Given the description of an element on the screen output the (x, y) to click on. 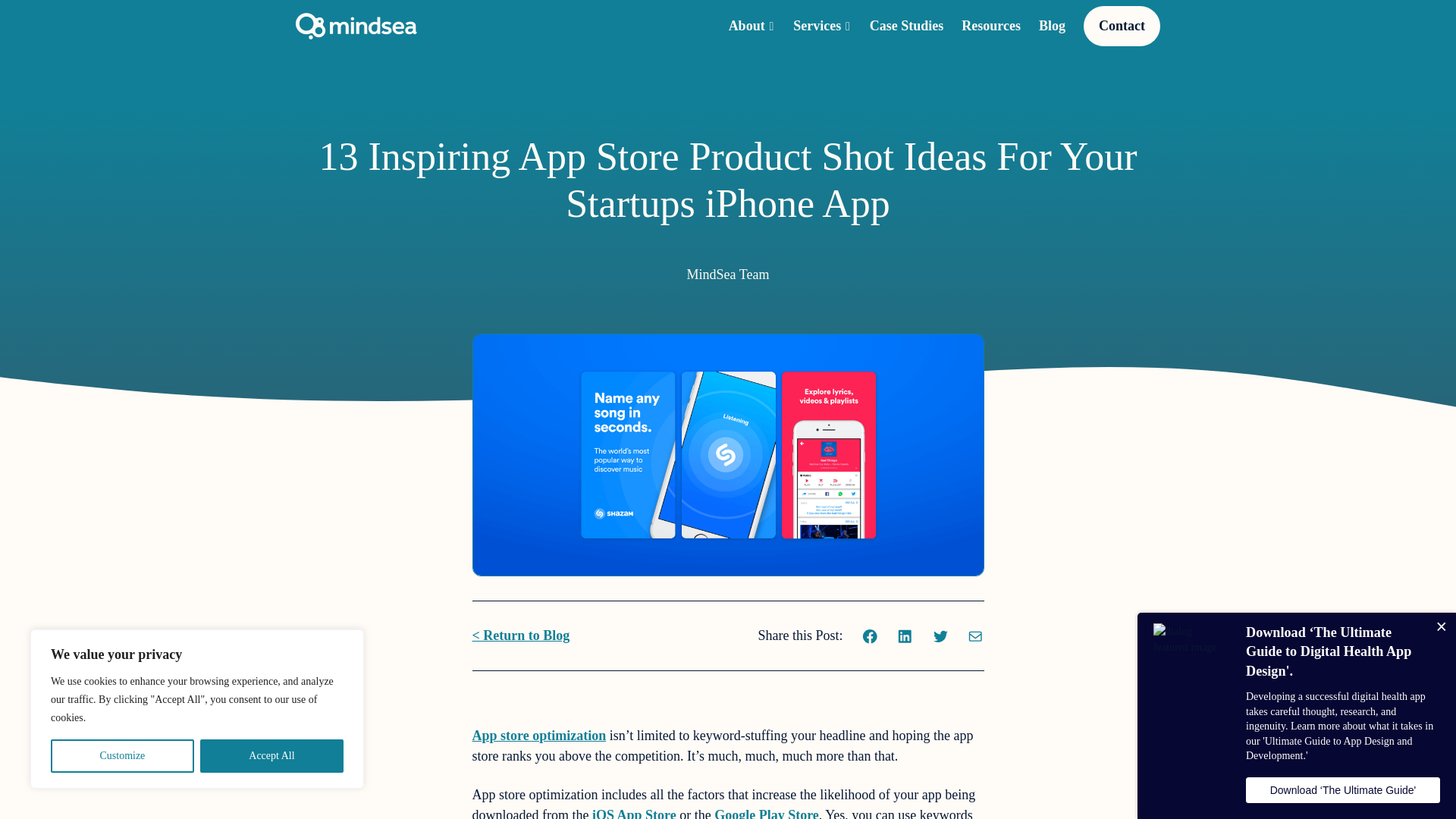
About (747, 25)
Case Studies (906, 25)
Accept All (271, 756)
Blog (1052, 25)
Resources (990, 25)
Services (817, 25)
Customize (121, 756)
Contact (1121, 25)
